Given the description of an element on the screen output the (x, y) to click on. 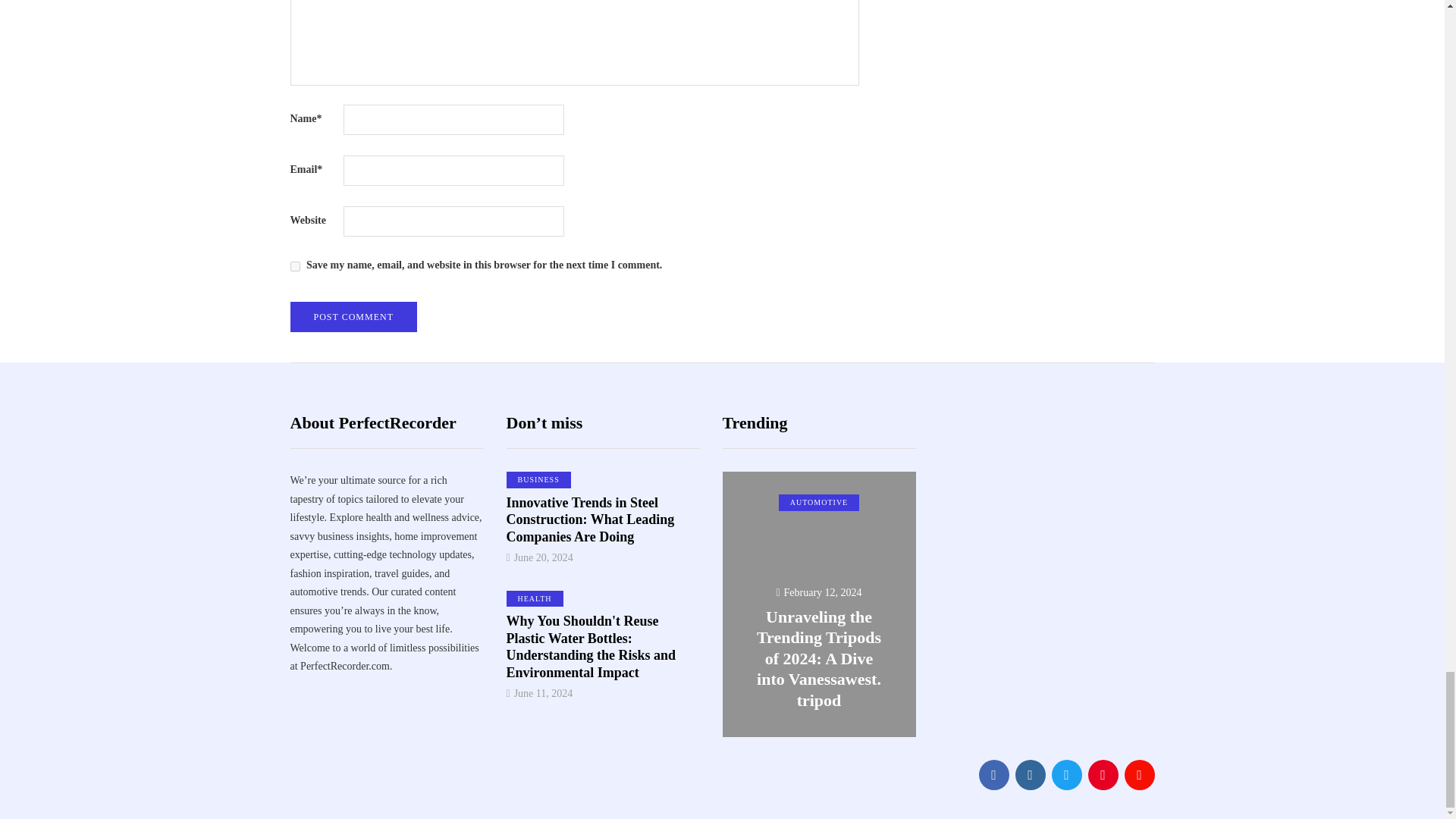
Post comment (352, 317)
yes (294, 266)
